Given the description of an element on the screen output the (x, y) to click on. 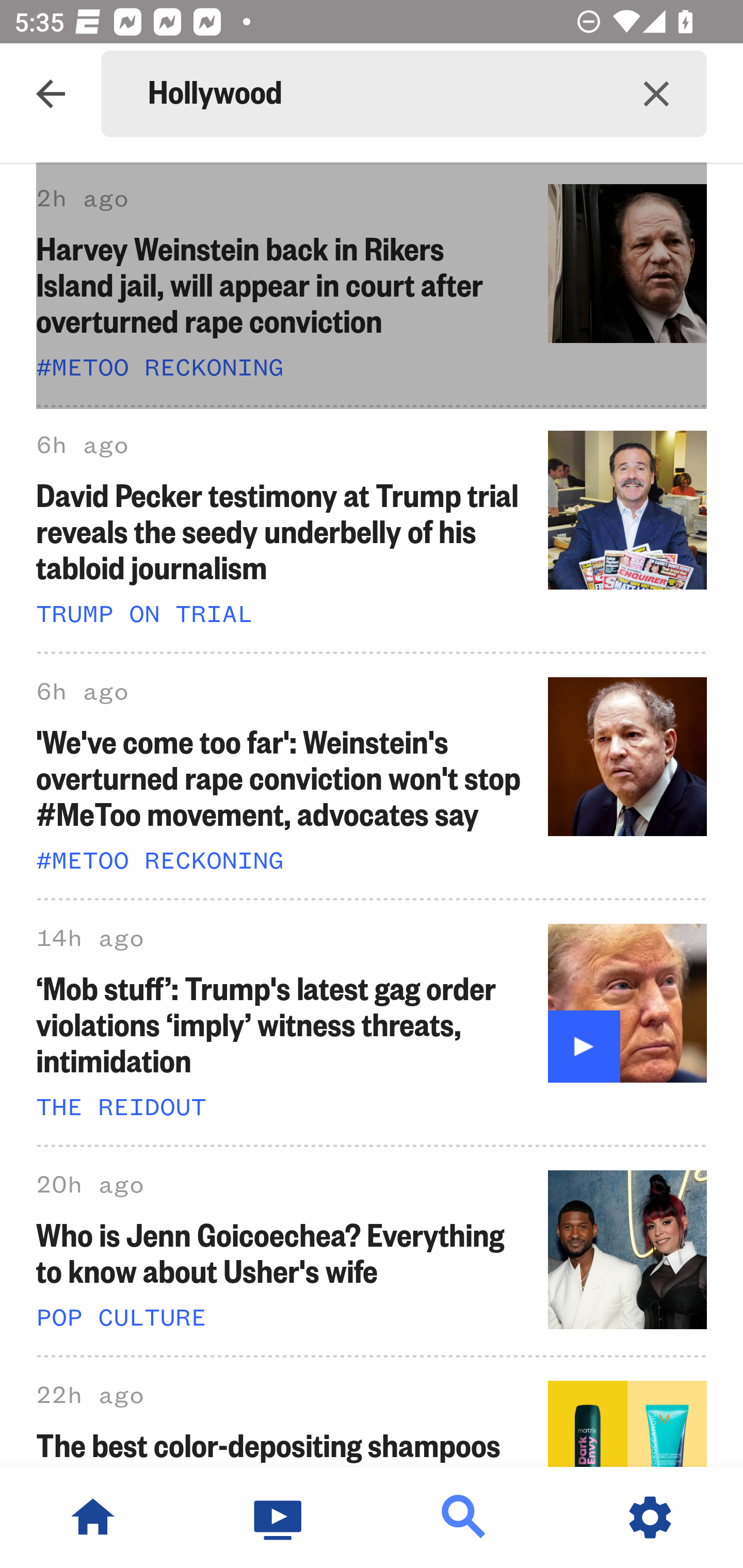
Navigate up (50, 93)
Clear query (656, 93)
Hollywood (376, 94)
NBC News Home (92, 1517)
Watch (278, 1517)
Settings (650, 1517)
